Given the description of an element on the screen output the (x, y) to click on. 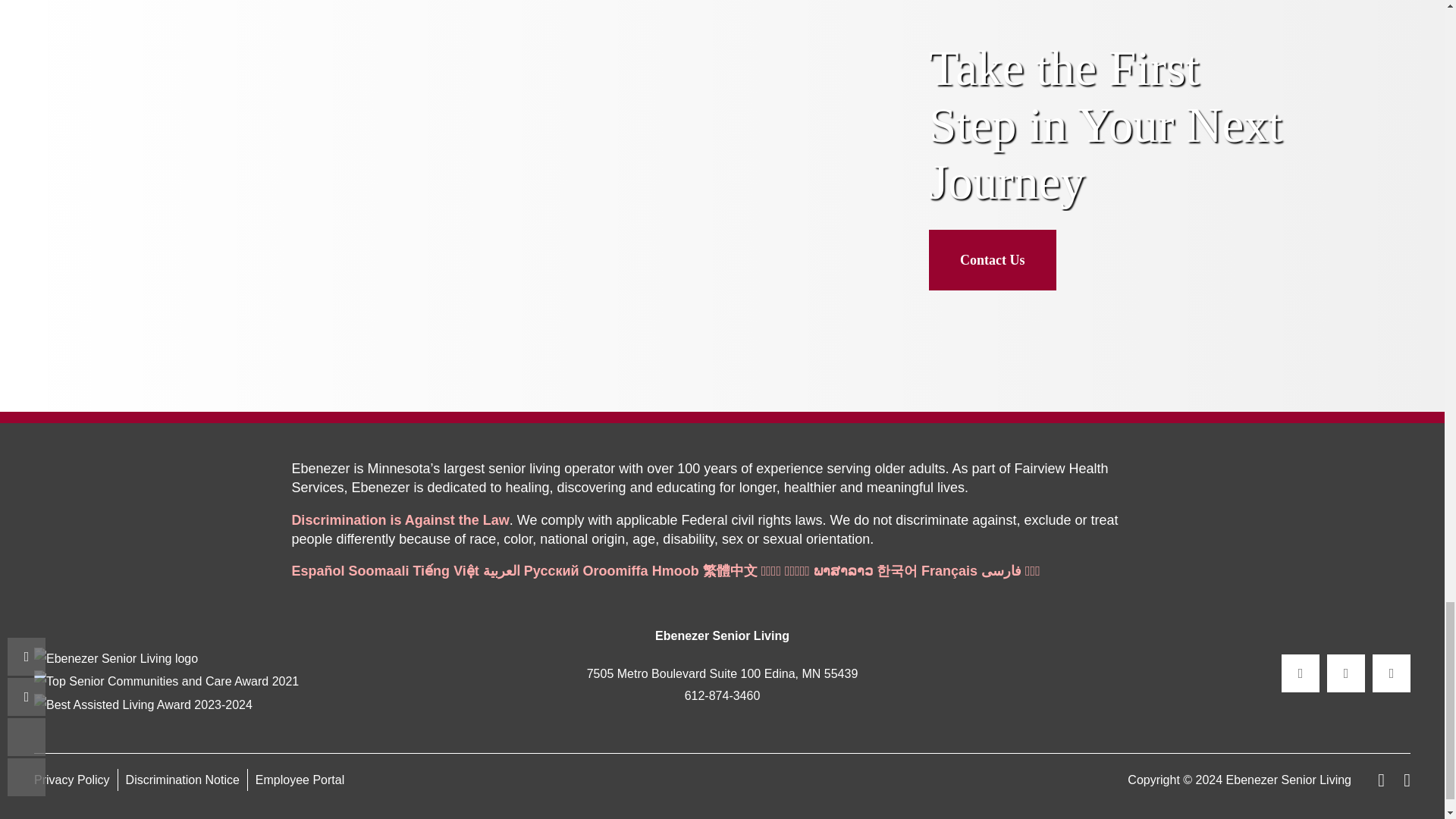
Facebook (1300, 673)
LinkedIn (1345, 673)
YouTube (1391, 673)
Property Phone Number (722, 695)
